Given the description of an element on the screen output the (x, y) to click on. 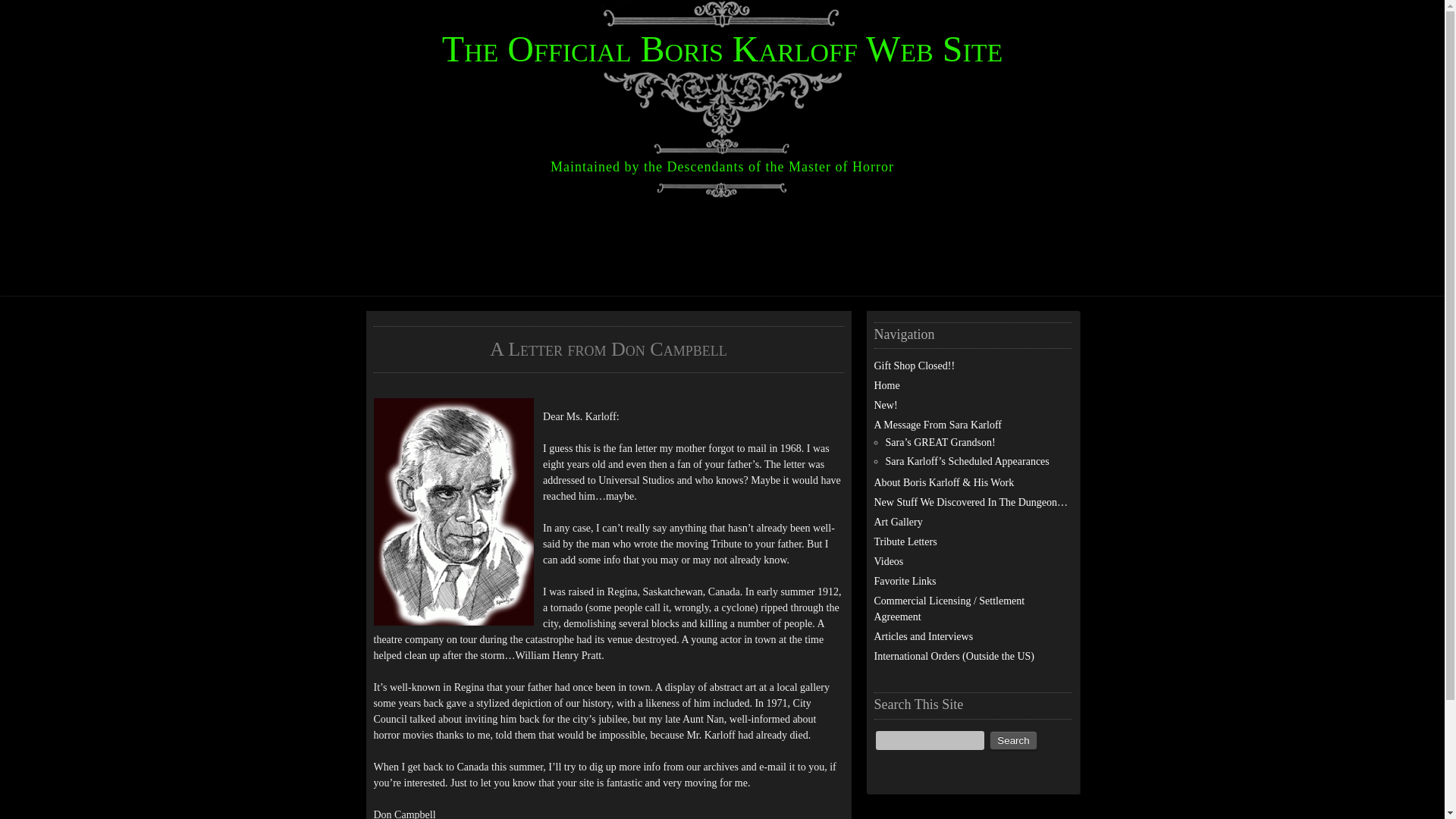
Search (1013, 740)
Search (1013, 740)
Gift Shop Closed!! (914, 365)
Home (886, 385)
Tribute Letters (904, 541)
A Message From Sara Karloff (937, 424)
New! (884, 405)
Videos (887, 561)
Articles and Interviews (922, 636)
Art Gallery (897, 521)
